Given the description of an element on the screen output the (x, y) to click on. 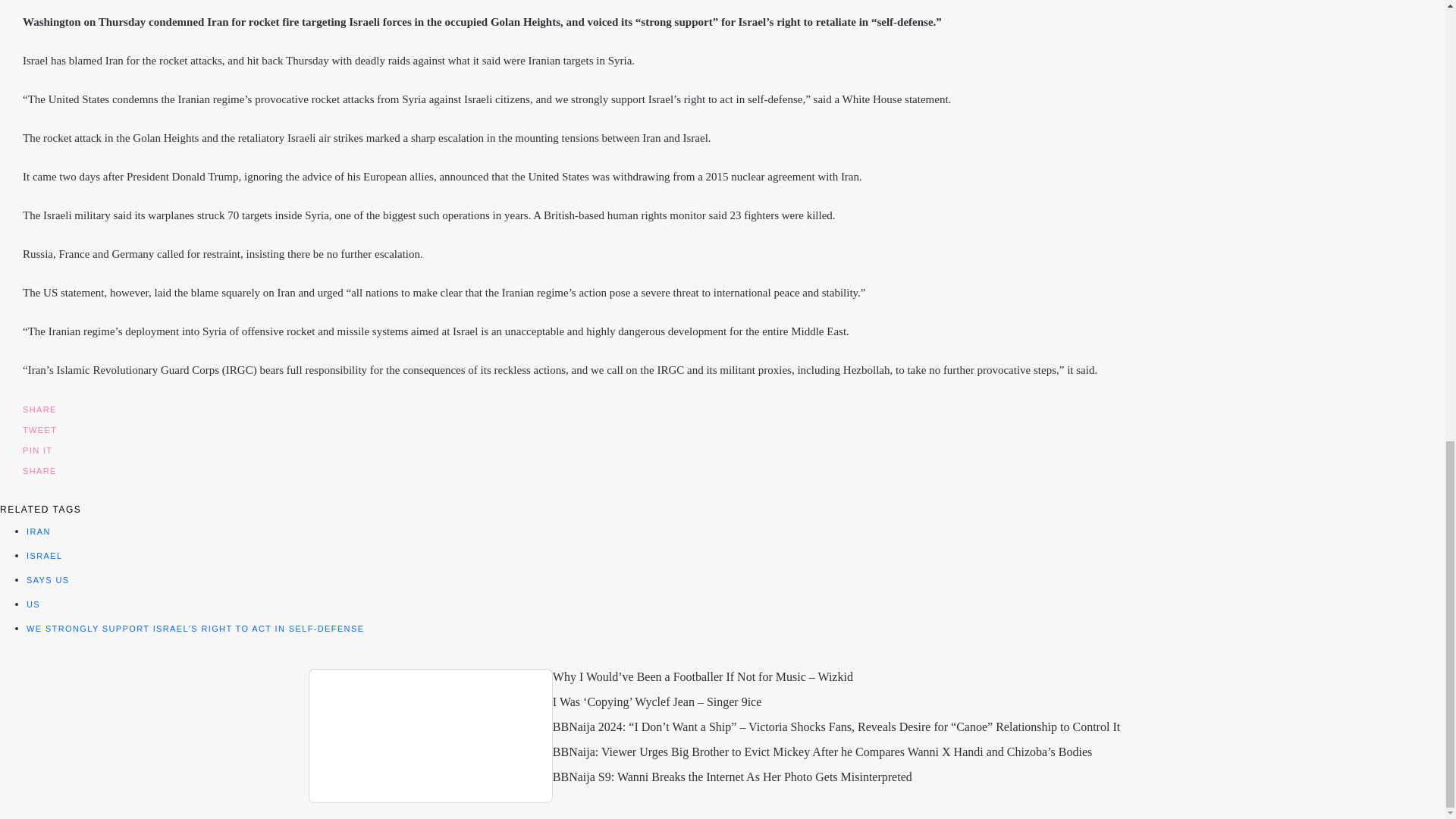
SHARE (39, 469)
ISRAEL (44, 555)
SHARE (39, 408)
SAYS US (47, 579)
US (33, 604)
PIN IT (37, 449)
TWEET (39, 428)
IRAN (38, 531)
